Given the description of an element on the screen output the (x, y) to click on. 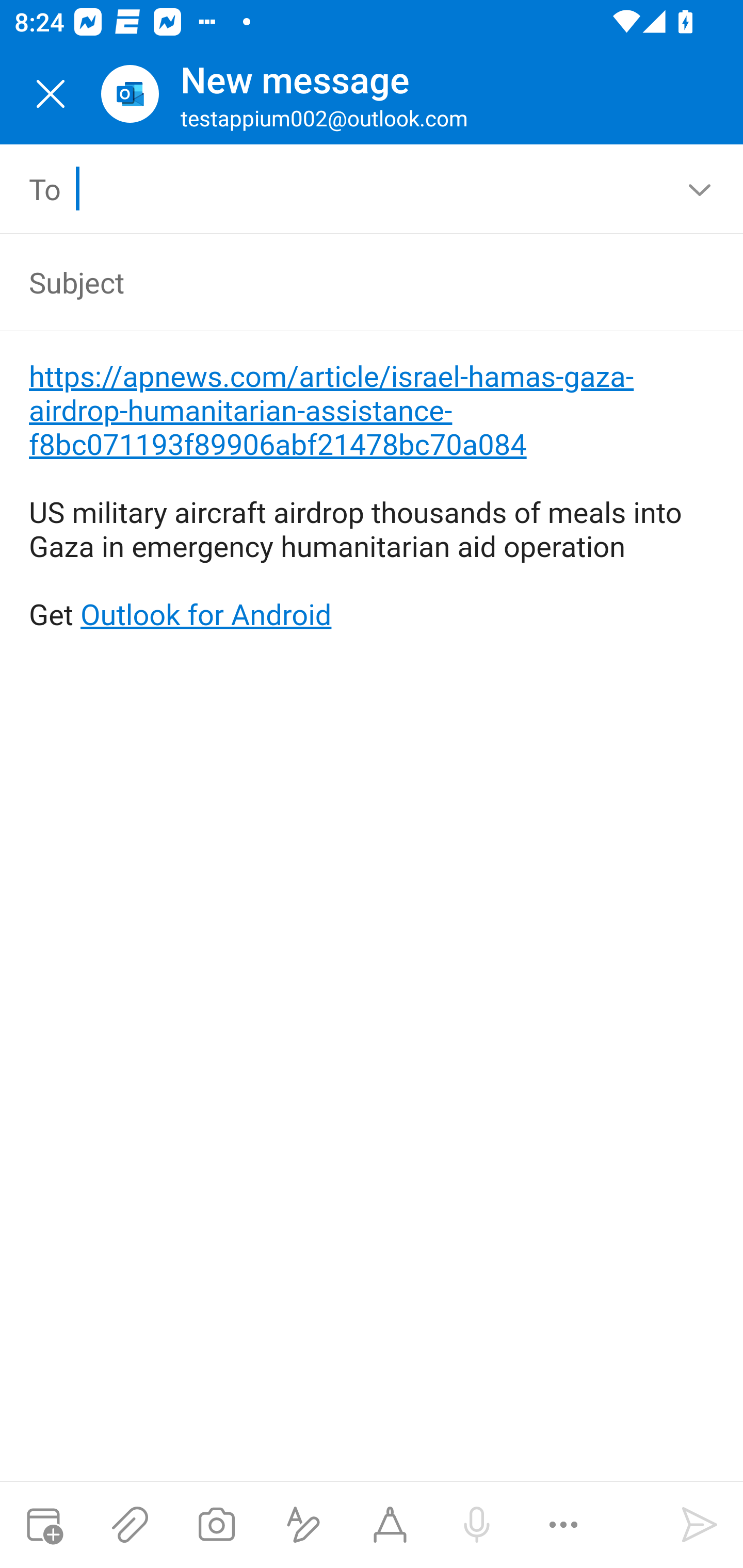
Close (50, 93)
Subject (342, 281)
Attach meeting (43, 1524)
Attach files (129, 1524)
Take a photo (216, 1524)
Show formatting options (303, 1524)
Start Ink compose (389, 1524)
More options (563, 1524)
Send (699, 1524)
